Given the description of an element on the screen output the (x, y) to click on. 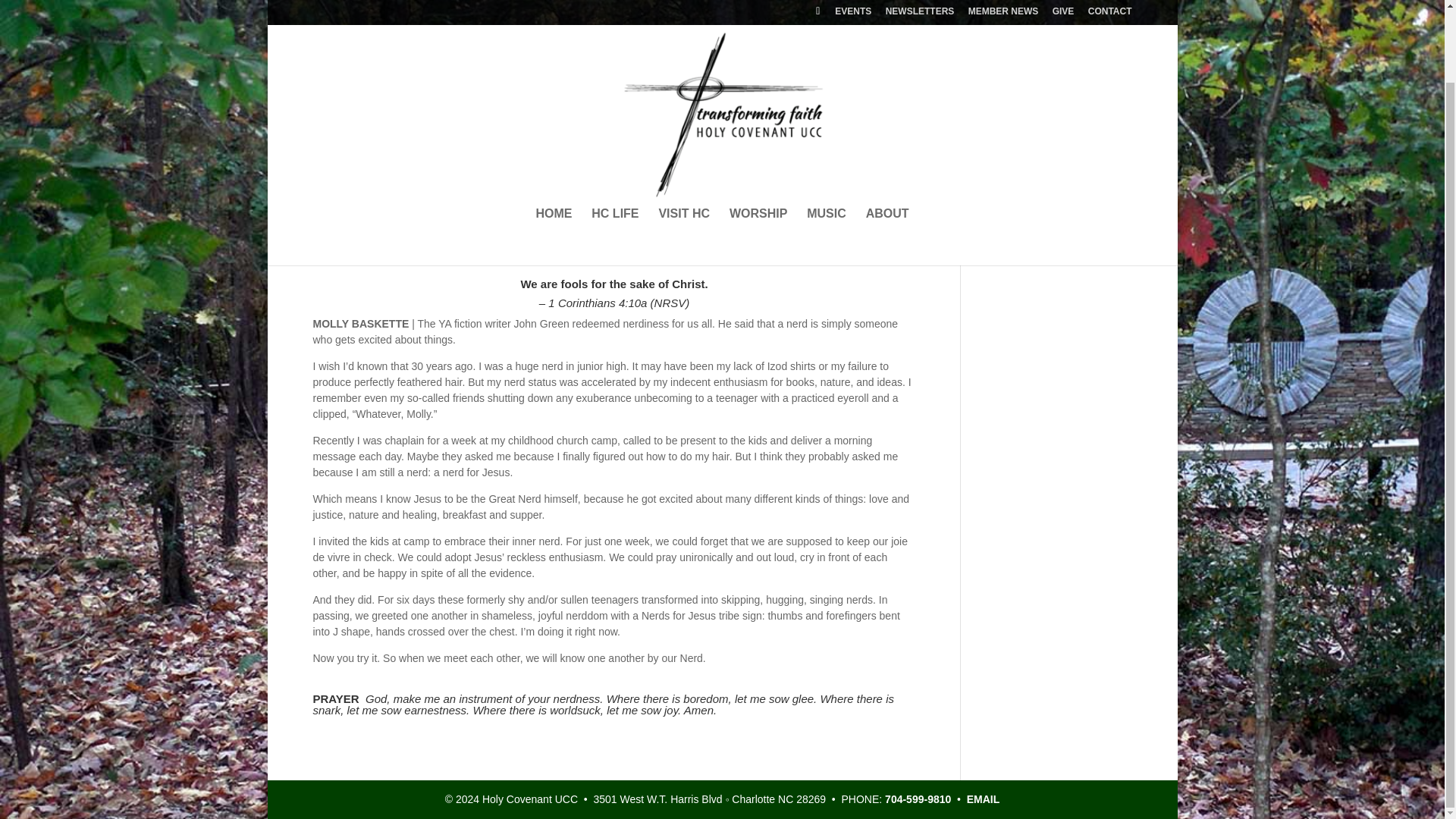
VISIT HC (684, 148)
MUSIC (825, 148)
HC LIFE (615, 148)
ABOUT (887, 148)
704-599-9810 (917, 799)
EMAIL (983, 799)
WORSHIP (758, 148)
